Given the description of an element on the screen output the (x, y) to click on. 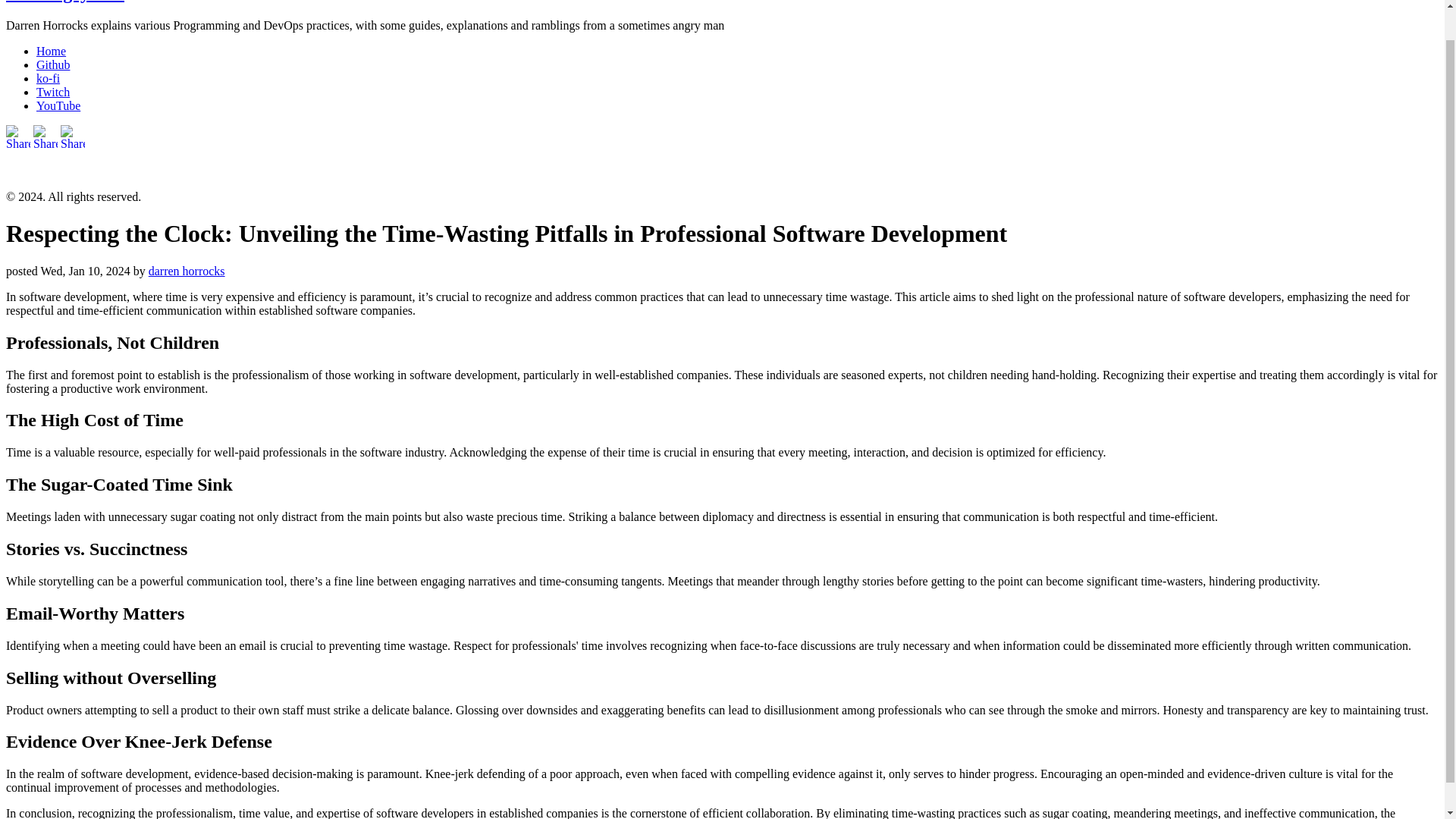
Share to reddit (17, 170)
Github (52, 64)
ko-fi (47, 78)
Home (50, 51)
YouTube (58, 105)
Share to facebook (45, 170)
darren horrocks (186, 270)
Share to twitter (72, 170)
Twitch (52, 91)
